Given the description of an element on the screen output the (x, y) to click on. 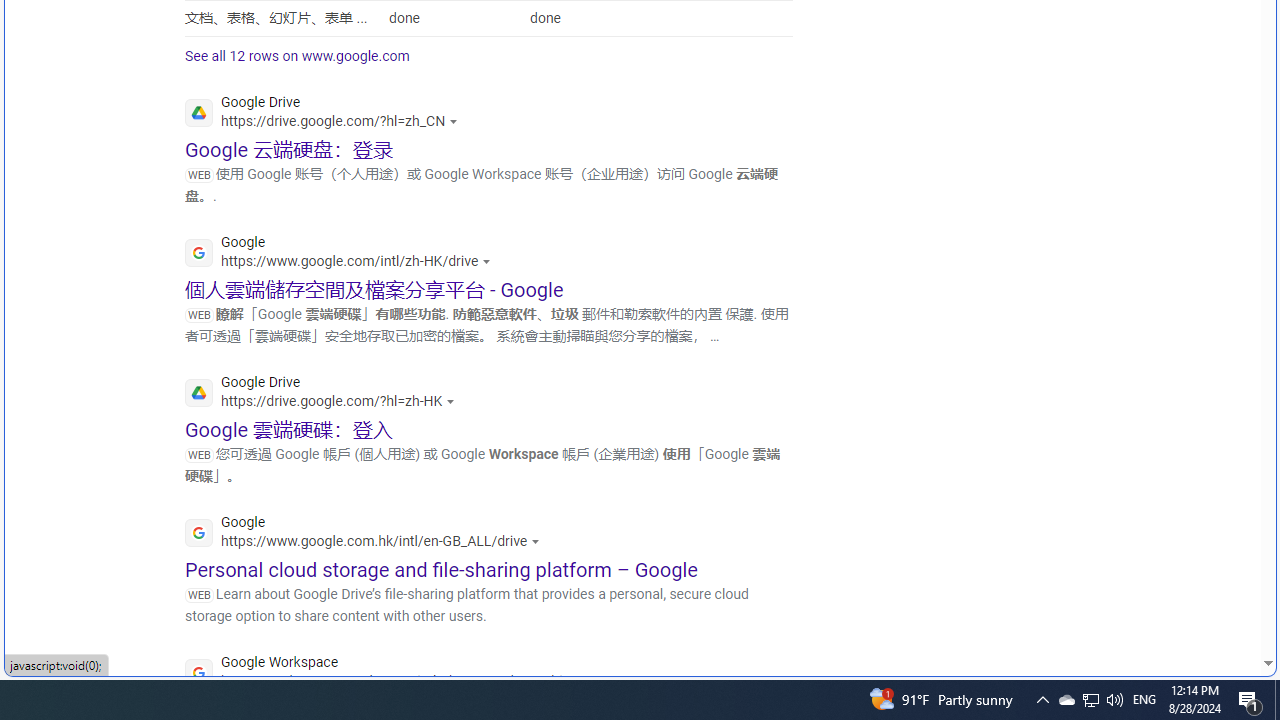
Global web icon (198, 673)
Google Drive (325, 394)
Actions for this site (588, 681)
AutomationID: mfa_root (1192, 603)
Google (367, 534)
Search more (1222, 604)
Google Workspace (392, 674)
